Given the description of an element on the screen output the (x, y) to click on. 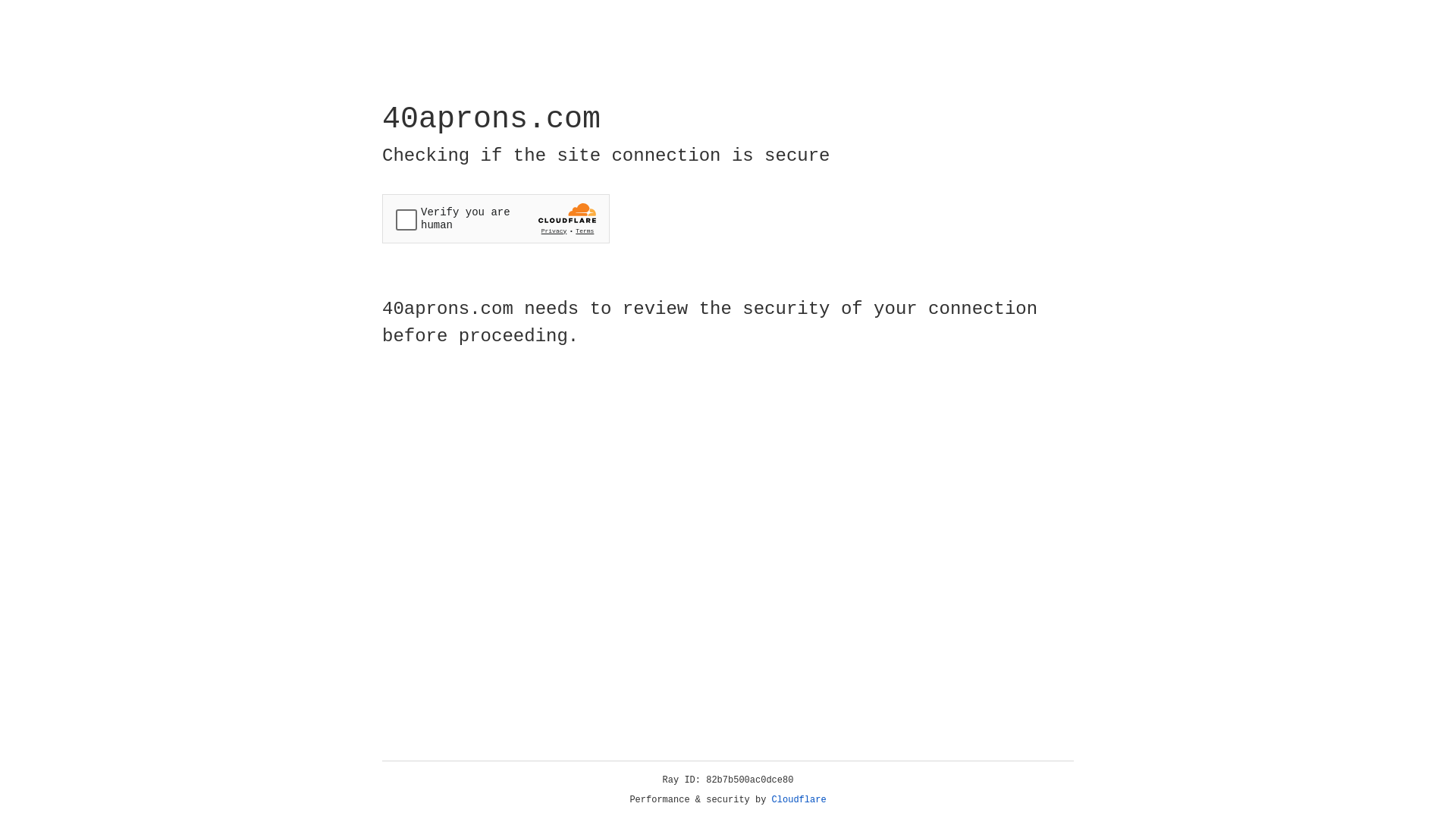
Widget containing a Cloudflare security challenge Element type: hover (495, 218)
Cloudflare Element type: text (798, 799)
